Given the description of an element on the screen output the (x, y) to click on. 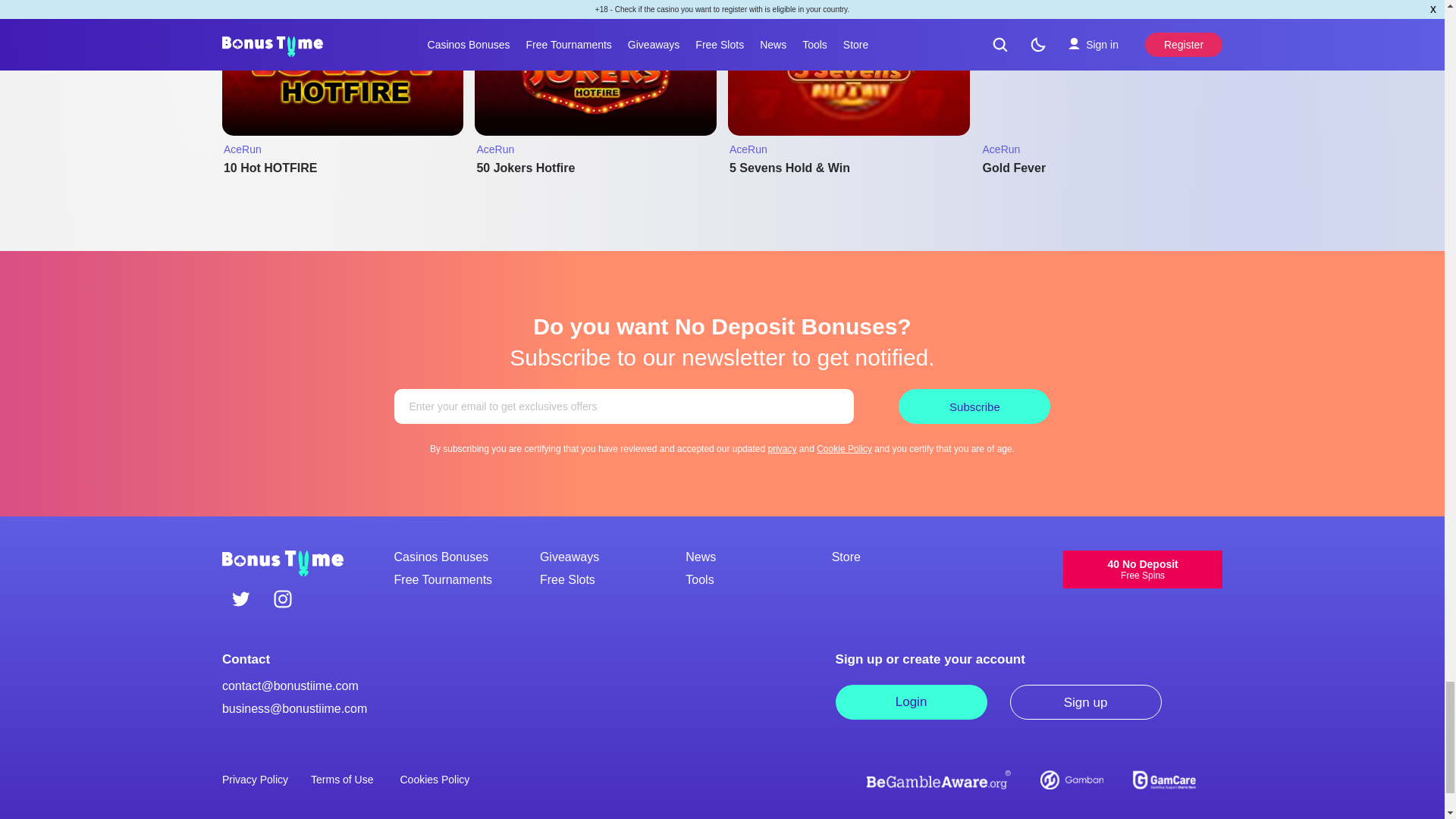
Twitter (241, 599)
Subscribe (973, 406)
Instagram (282, 599)
